Given the description of an element on the screen output the (x, y) to click on. 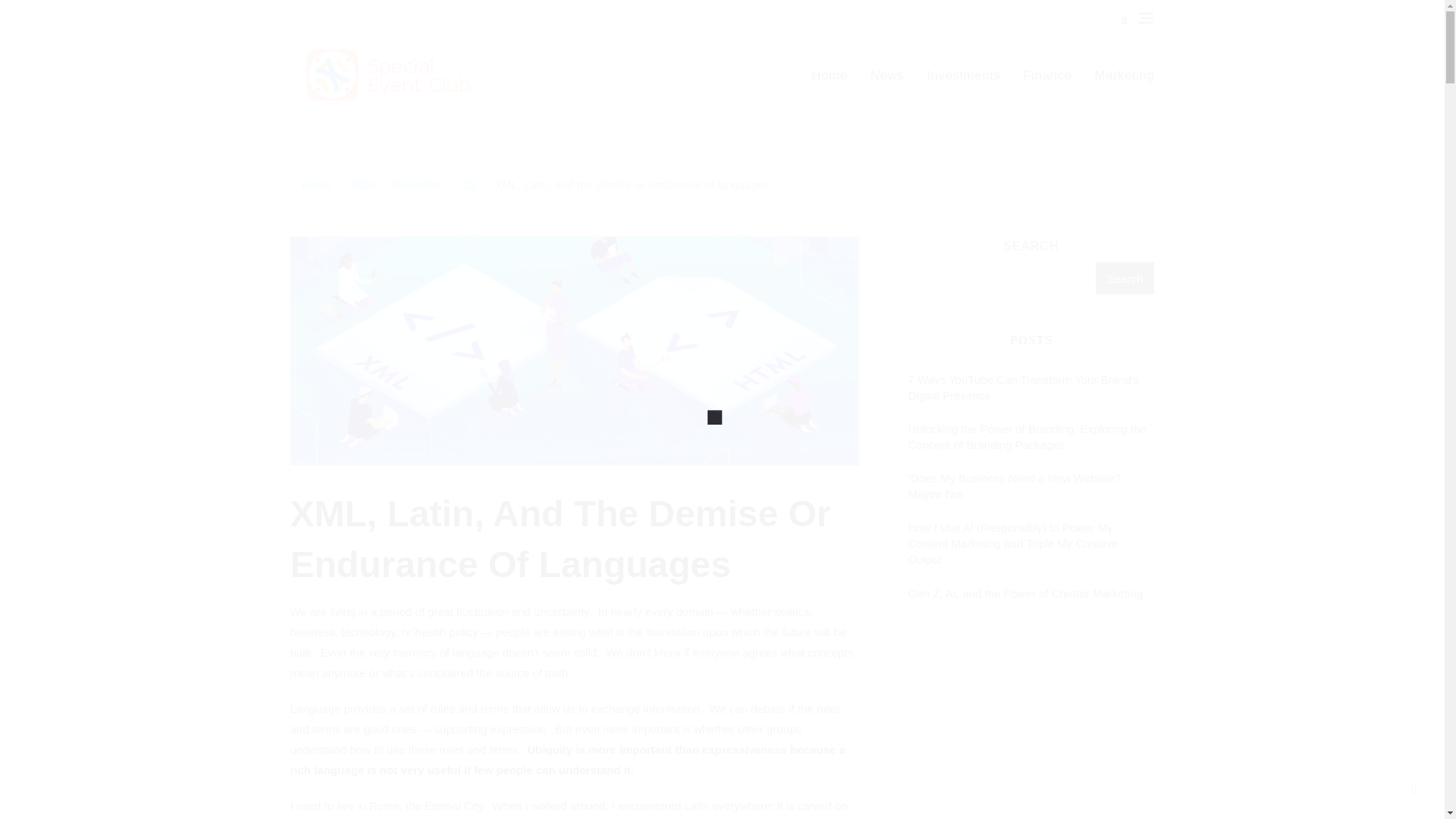
November (421, 184)
Investments (963, 75)
Home (318, 184)
Marketing (1118, 75)
News (887, 75)
Home (834, 75)
23 (470, 184)
2020 (363, 184)
Finance (1047, 75)
